Given the description of an element on the screen output the (x, y) to click on. 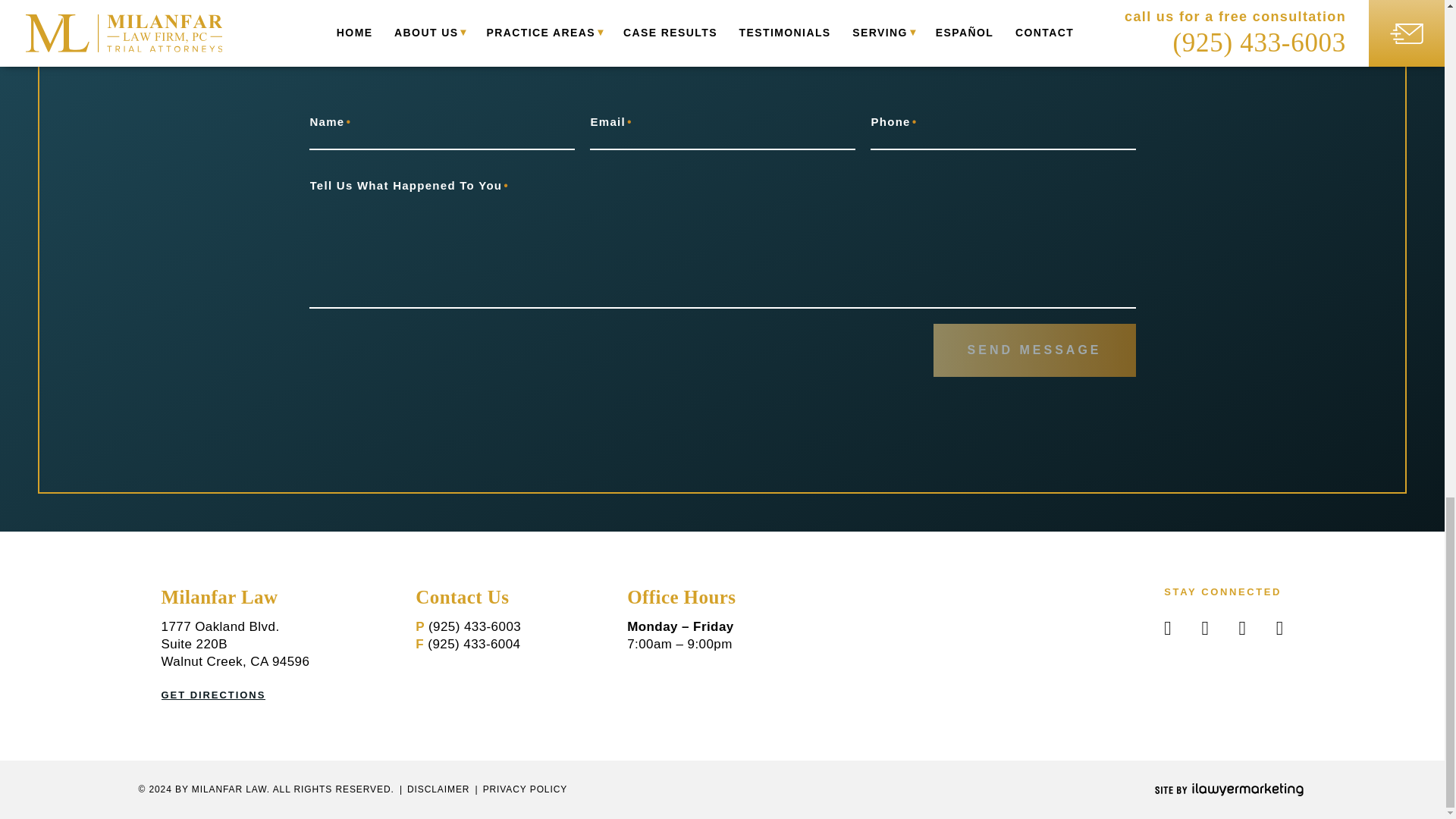
F (473, 644)
P (474, 626)
